Given the description of an element on the screen output the (x, y) to click on. 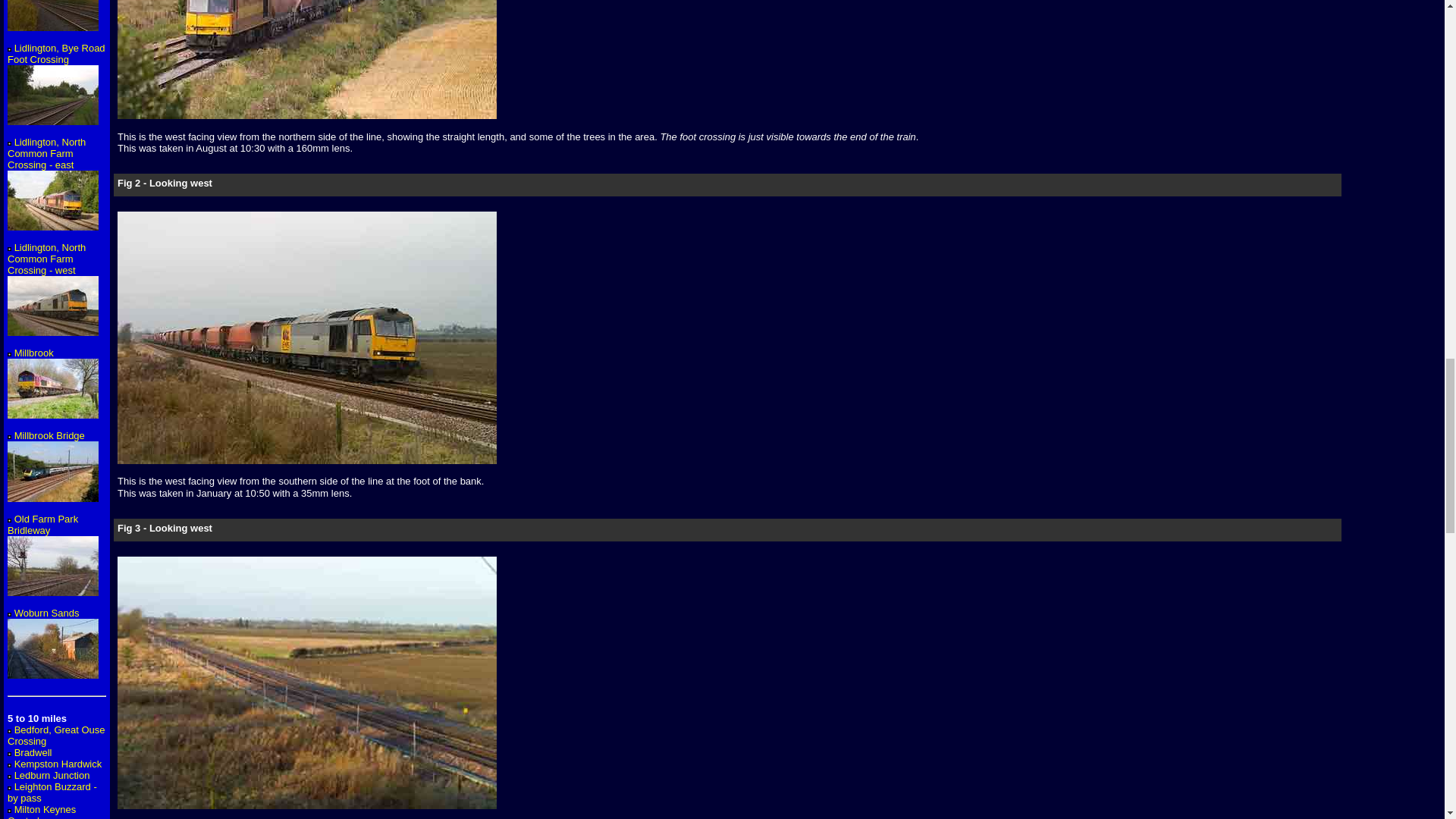
Lidlington, North Common Farm Crossing - west (53, 289)
Lidlington, North Common Farm Crossing - east (53, 184)
Millbrook Bridge (53, 466)
Milton Keynes Central (41, 811)
Bedford, Great Ouse Crossing (55, 734)
Leighton Buzzard - by pass (52, 792)
Bradwell (33, 752)
Millbrook (53, 383)
Old Farm Park Bridleway (53, 555)
Woburn Sands (53, 643)
Lidlington, Bye Road Foot Crossing (55, 84)
Kempston Hardwick (57, 763)
Ledburn Junction (52, 775)
